Given the description of an element on the screen output the (x, y) to click on. 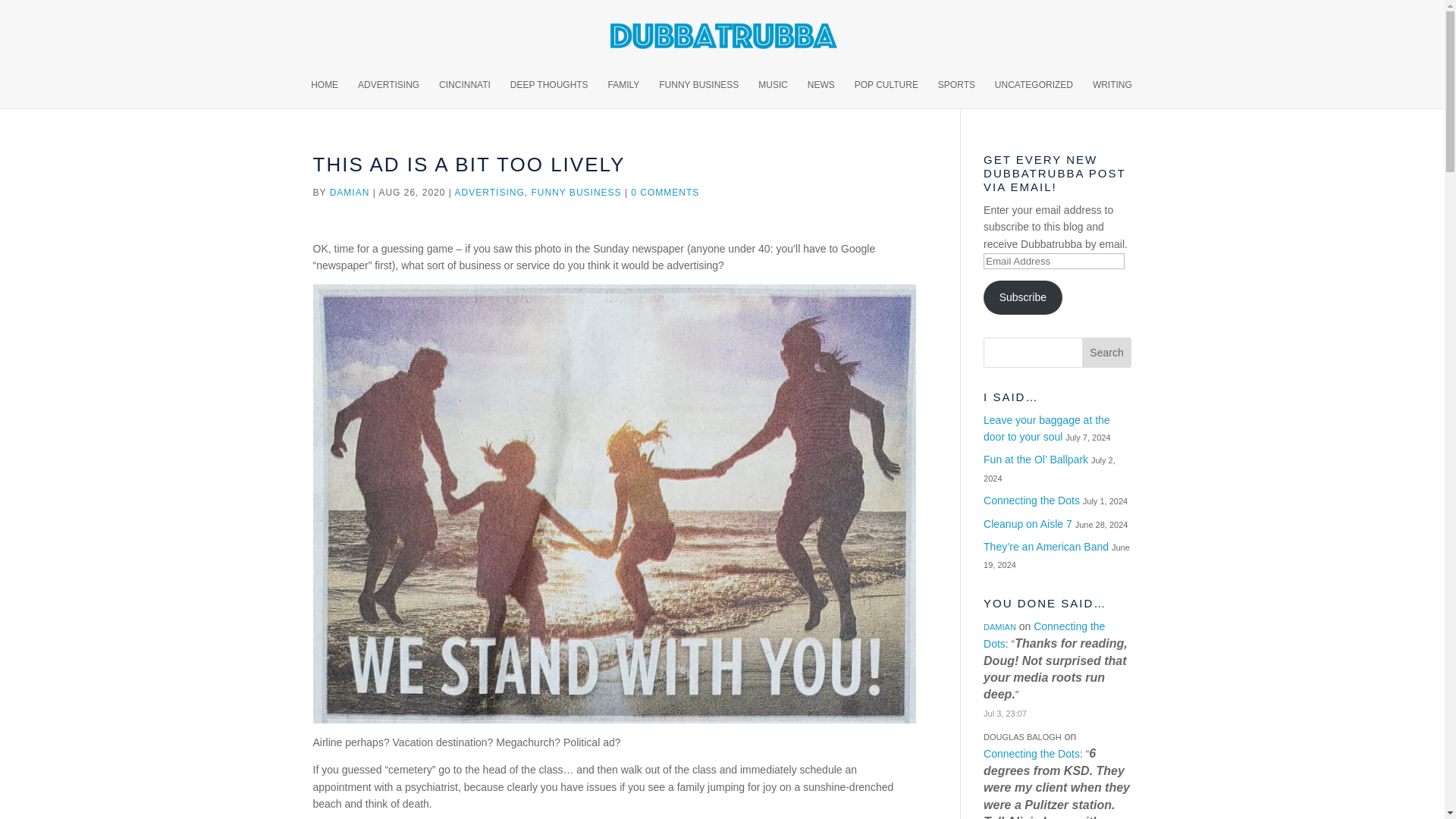
FUNNY BUSINESS (576, 192)
Posts by Damian (349, 192)
ADVERTISING (489, 192)
MUSIC (772, 93)
SPORTS (956, 93)
Search (1106, 352)
UNCATEGORIZED (1033, 93)
HOME (324, 93)
FAMILY (624, 93)
DEEP THOUGHTS (549, 93)
FUNNY BUSINESS (698, 93)
ADVERTISING (388, 93)
NEWS (821, 93)
CINCINNATI (464, 93)
POP CULTURE (886, 93)
